Given the description of an element on the screen output the (x, y) to click on. 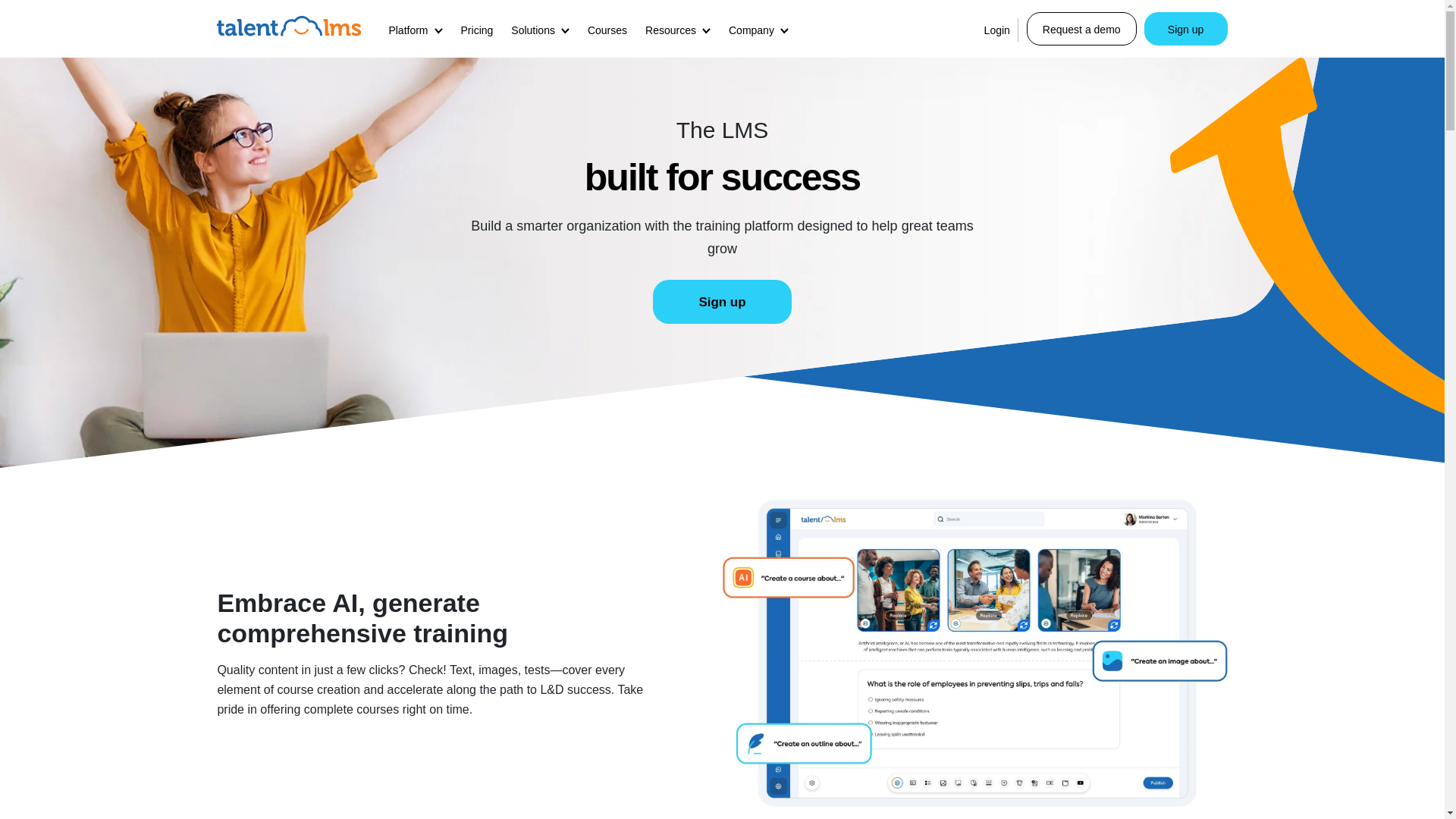
Courses (607, 30)
Request a demo (1081, 28)
Sign up (1185, 28)
TalentLMS (288, 25)
Pricing (476, 30)
Login (997, 30)
Sign up (721, 301)
